Given the description of an element on the screen output the (x, y) to click on. 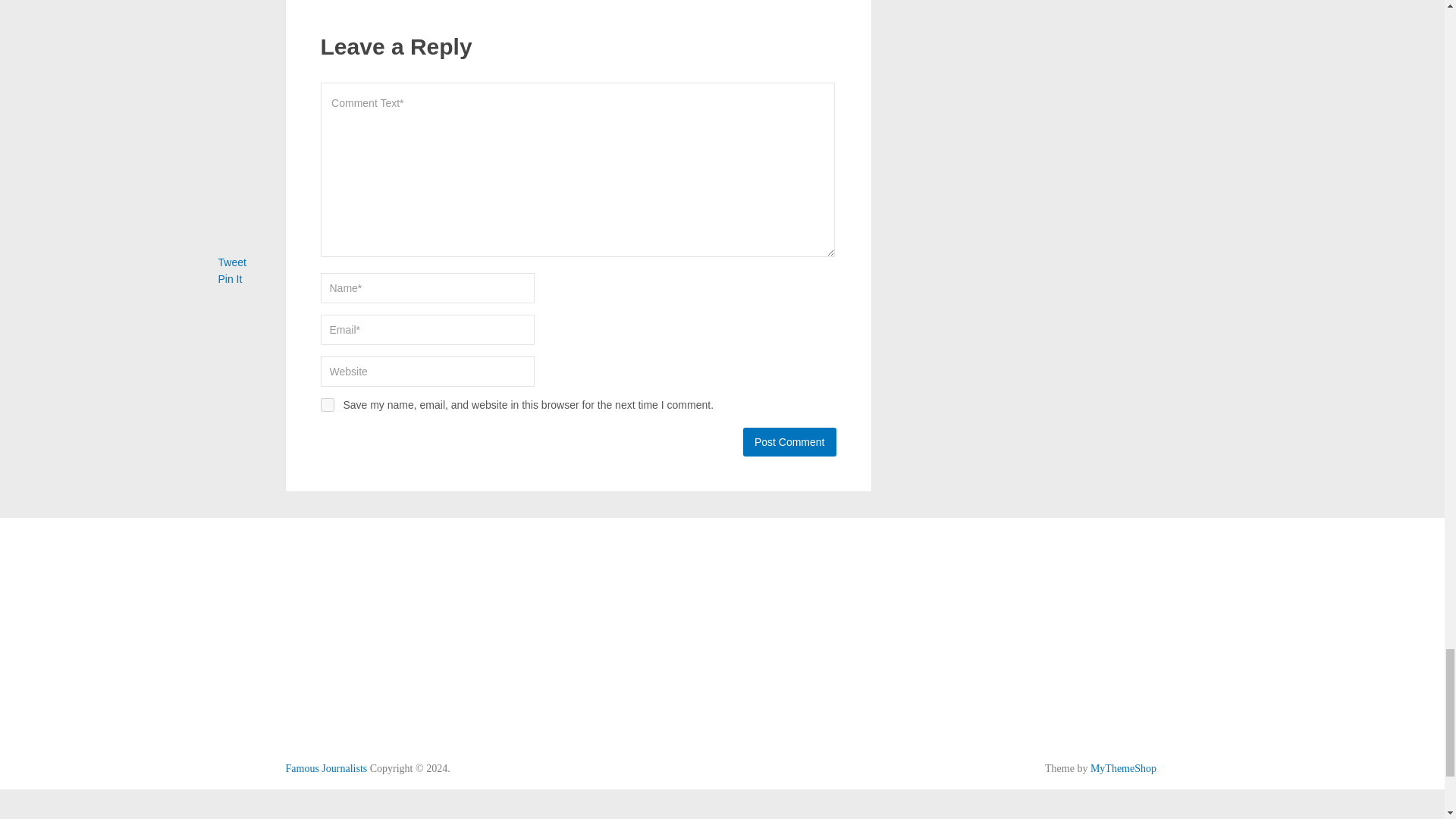
Post Comment (788, 441)
yes (326, 404)
 Biographies of Famous Journalist in the World. (325, 767)
